Given the description of an element on the screen output the (x, y) to click on. 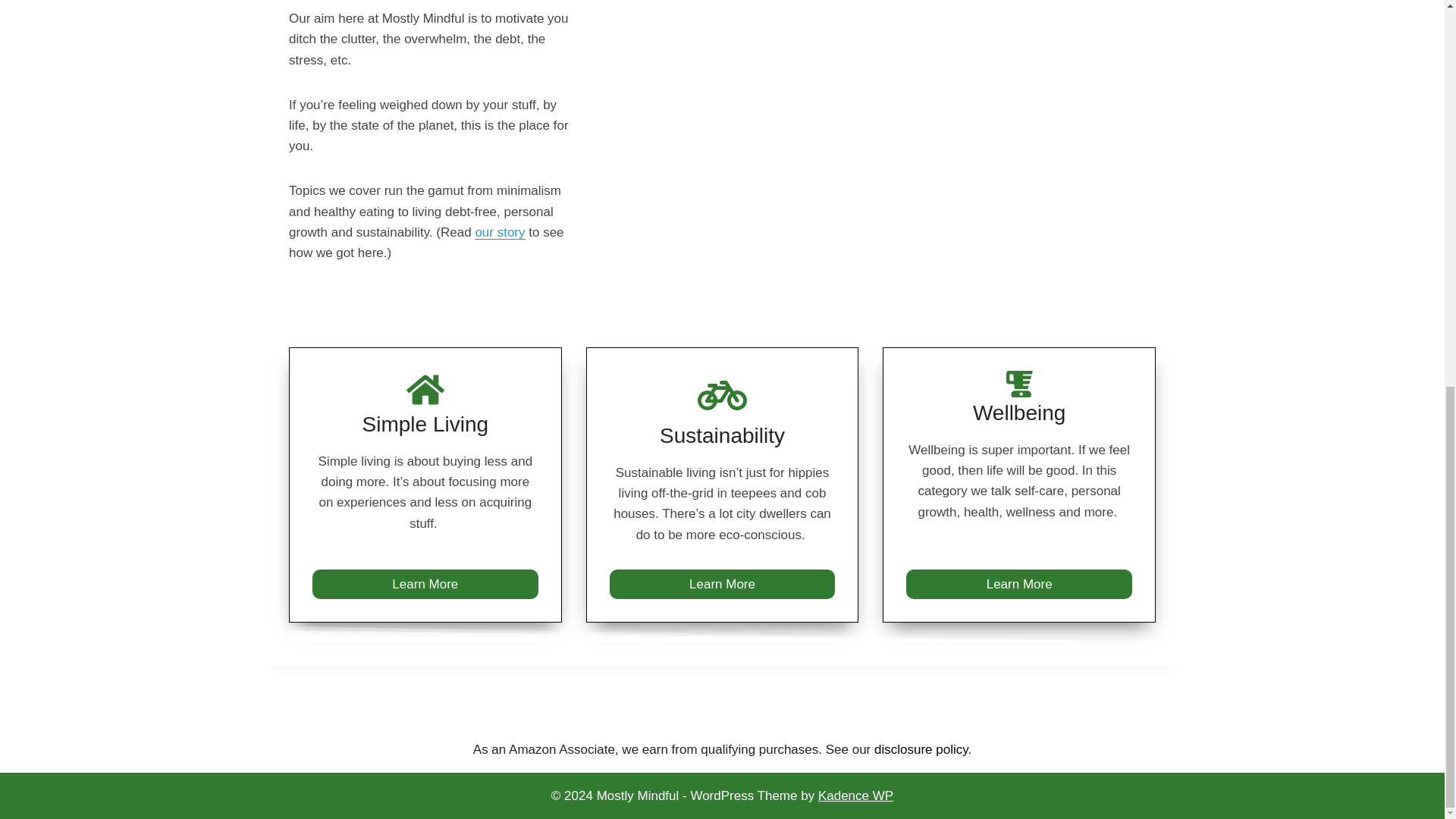
disclosure policy (921, 749)
our story (499, 232)
Learn More (722, 583)
Kadence WP (855, 795)
Learn More (1018, 583)
Learn More (425, 583)
